Given the description of an element on the screen output the (x, y) to click on. 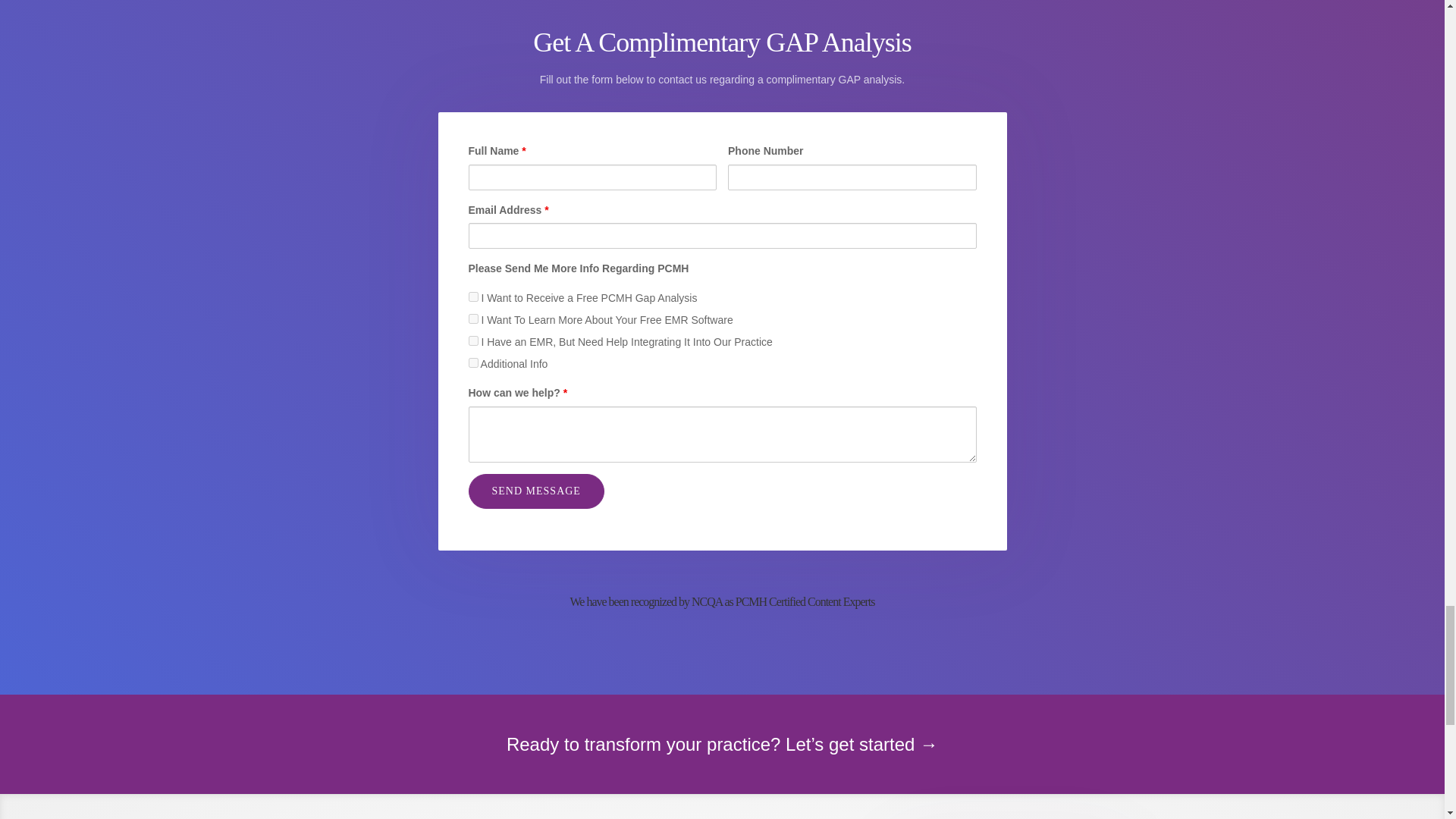
Send Message (536, 491)
Additional Info (473, 362)
Send Message (536, 491)
I Want to Receive a Free PCMH Gap Analysis (473, 296)
I Want To Learn More About Your Free EMR Software (473, 318)
